Given the description of an element on the screen output the (x, y) to click on. 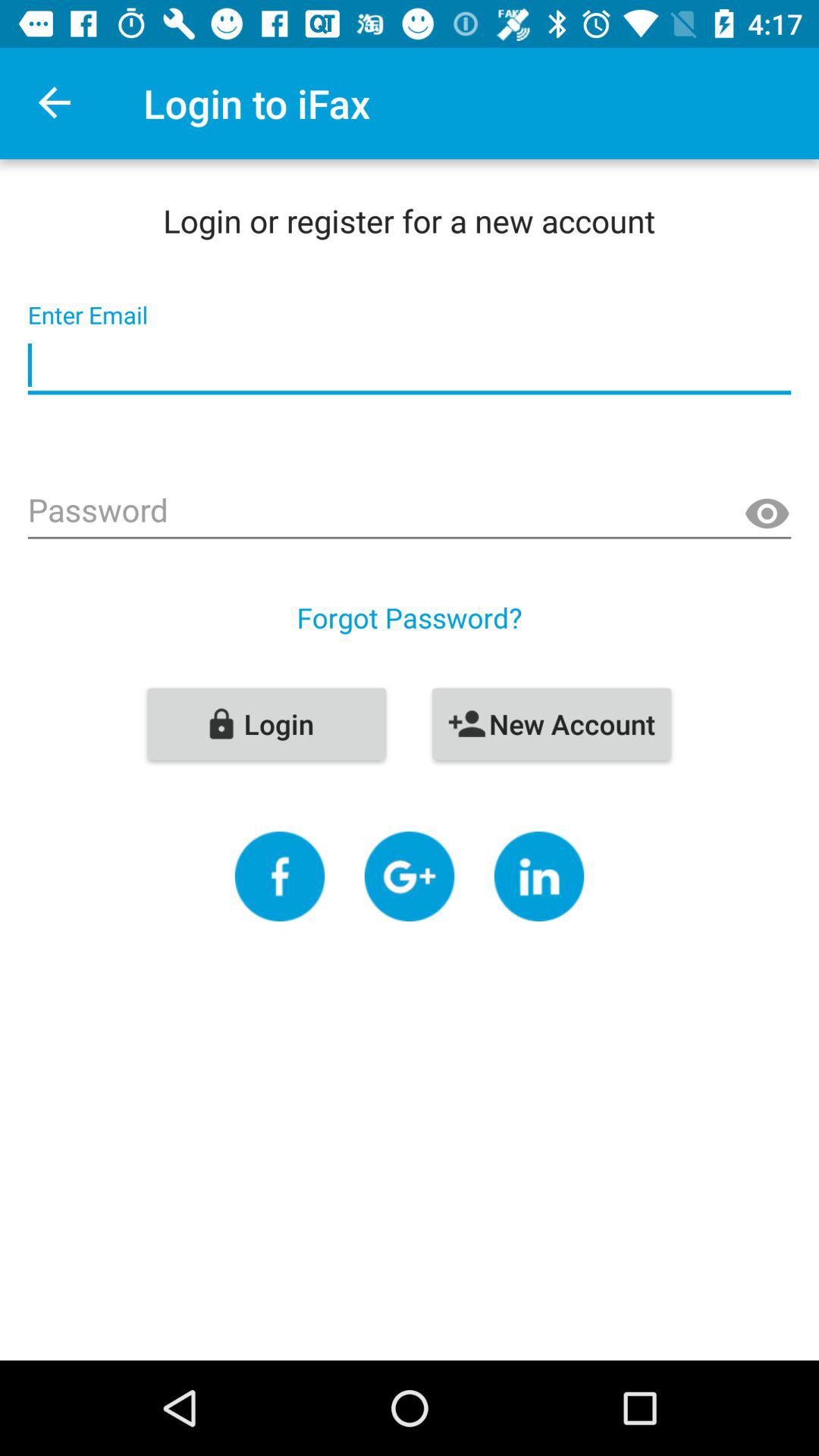
type the email (409, 365)
